Given the description of an element on the screen output the (x, y) to click on. 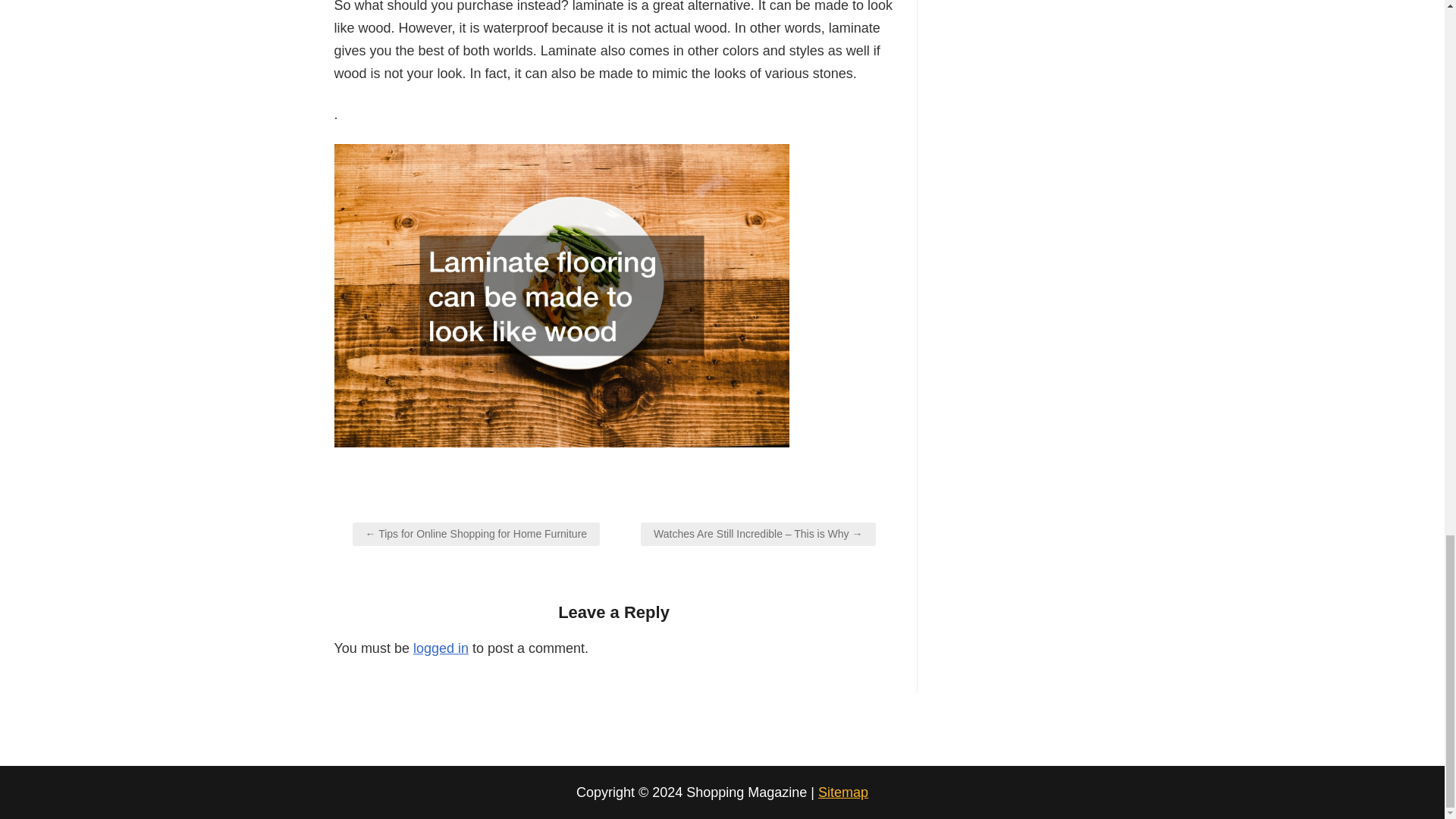
logged in (440, 648)
Sitemap (842, 792)
